Given the description of an element on the screen output the (x, y) to click on. 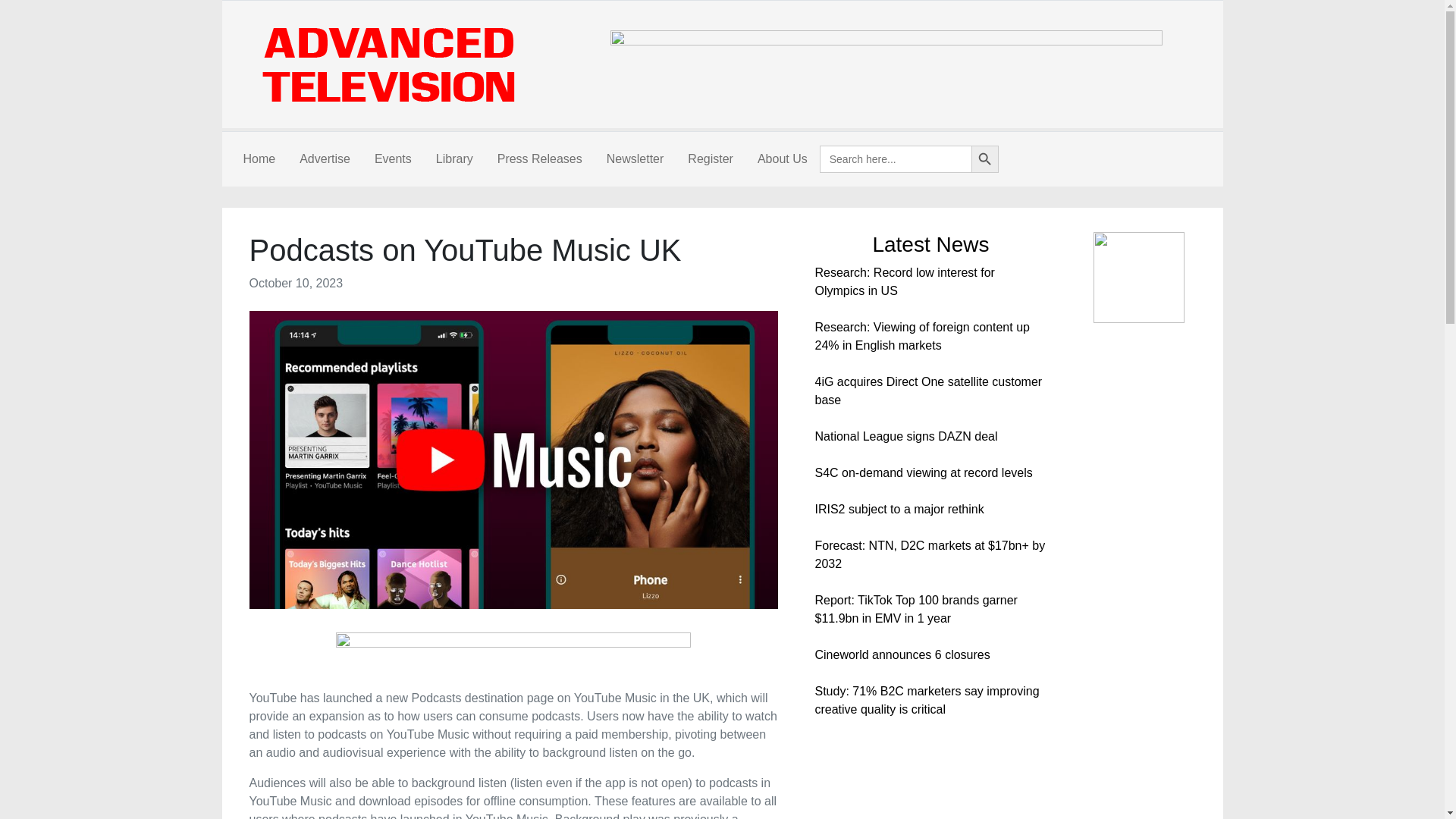
Home (258, 158)
Newsletter (635, 158)
Search Button (984, 158)
S4C on-demand viewing at record levels (922, 472)
4iG acquires Direct One satellite customer base (927, 390)
Events (392, 158)
About Us (782, 158)
Press Releases (539, 158)
Register (710, 158)
Library (453, 158)
National League signs DAZN deal (905, 436)
IRIS2 subject to a major rethink (898, 508)
Research: Record low interest for Olympics in US (903, 281)
Advertise (324, 158)
